Given the description of an element on the screen output the (x, y) to click on. 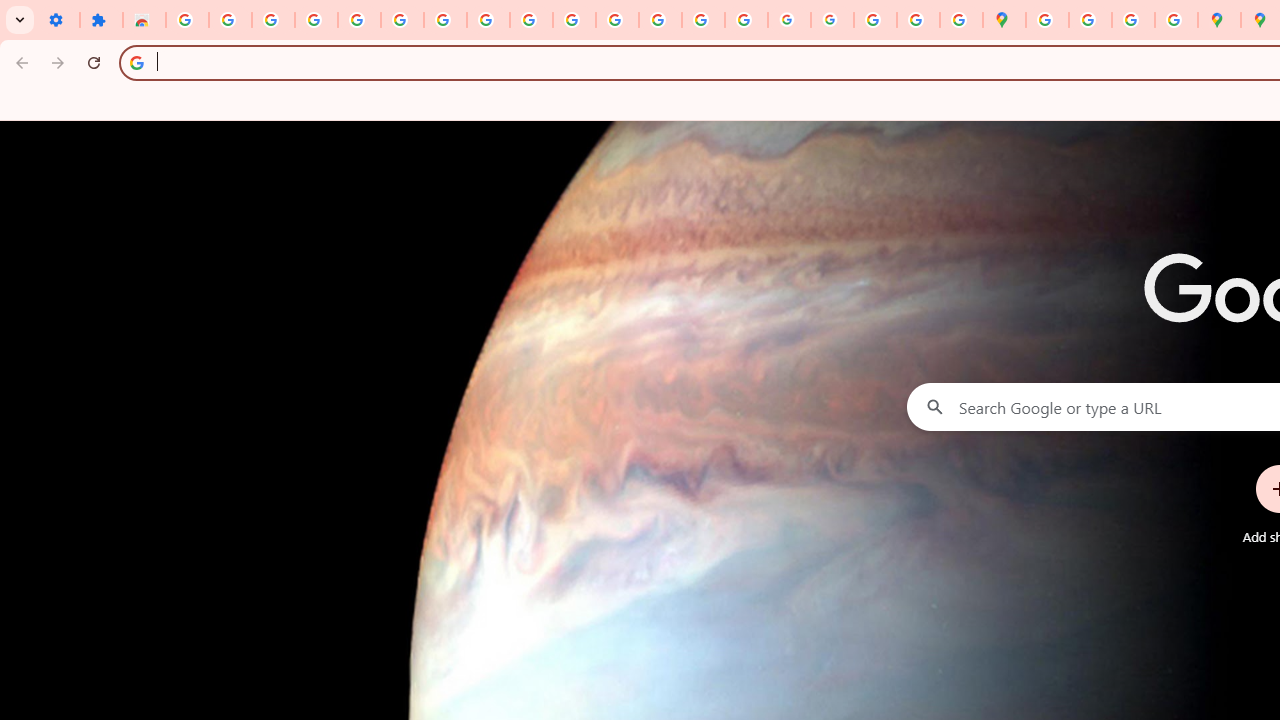
https://scholar.google.com/ (617, 20)
Reviews: Helix Fruit Jump Arcade Game (144, 20)
Delete photos & videos - Computer - Google Photos Help (273, 20)
Google Maps (1004, 20)
Learn how to find your photos - Google Photos Help (315, 20)
